Given the description of an element on the screen output the (x, y) to click on. 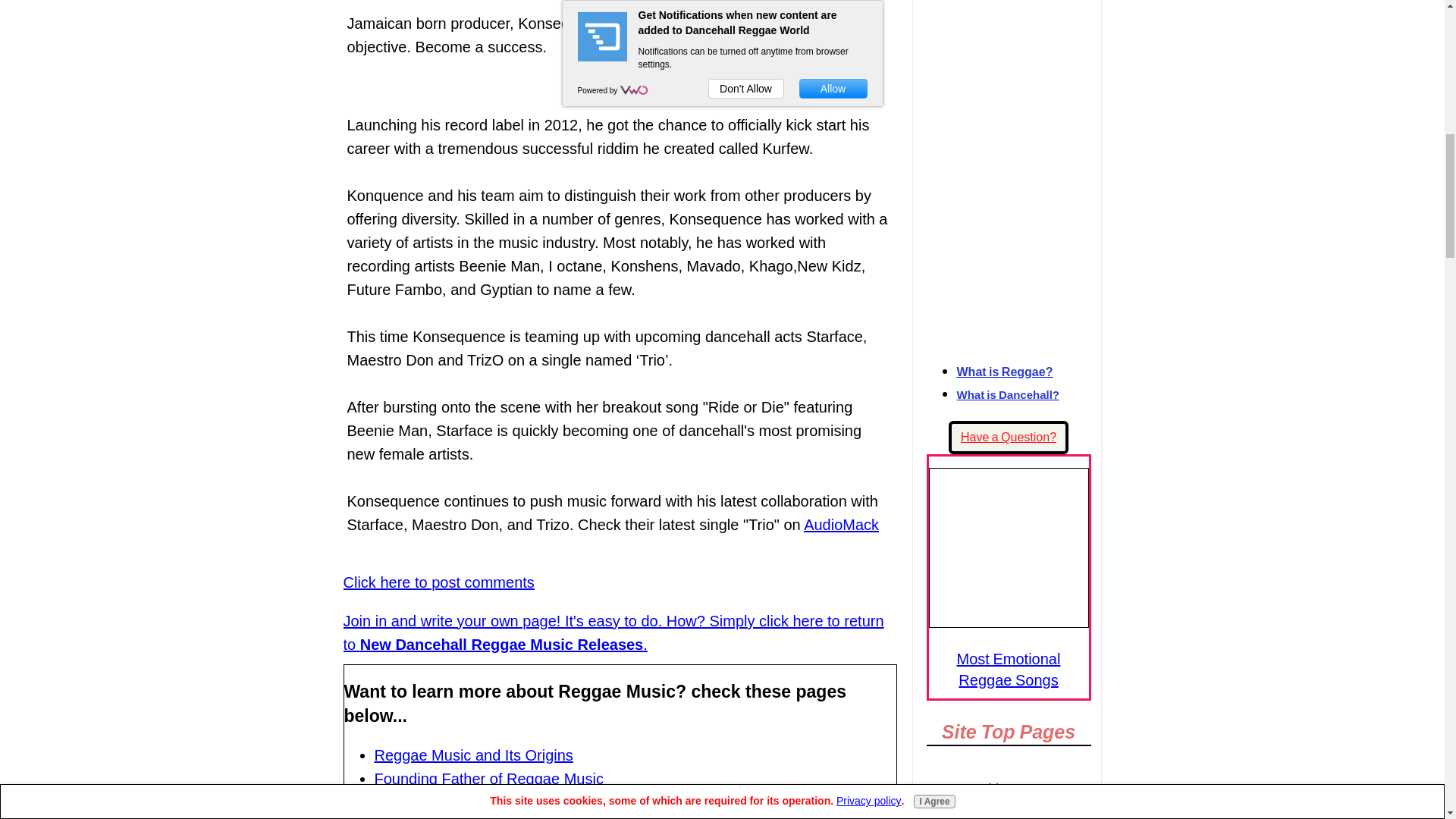
Founding Father of Reggae Music (489, 778)
AudioMack (841, 524)
Most Emotional Reggae Songs (1008, 669)
What is Reggae? (1004, 371)
Articles (1008, 811)
Have a Question? (1008, 437)
Home (1008, 789)
Click here to post comments (438, 582)
Reggae Music and Its Origins (473, 754)
What is Dancehall? (1007, 394)
Go to Most Emotional Reggae Songs (1007, 622)
What Is Reggae Music? (454, 801)
Most Emotional Reggae Songs (1007, 547)
